Given the description of an element on the screen output the (x, y) to click on. 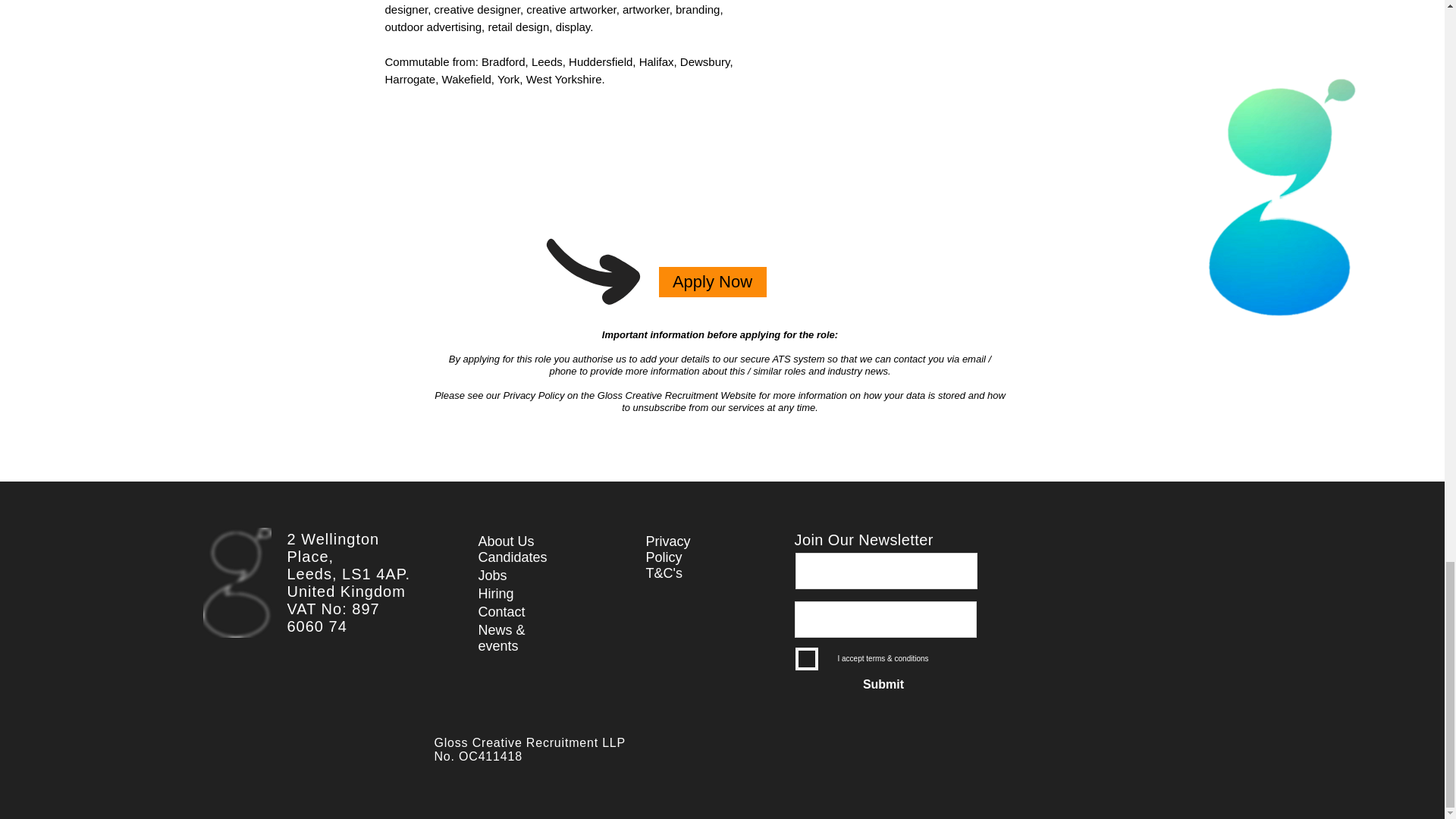
Candidates (512, 557)
Privacy Policy (668, 549)
About Us (505, 540)
Jobs (491, 575)
Hiring (495, 593)
Apply Now (711, 281)
Submit (883, 684)
Contact (500, 611)
